Given the description of an element on the screen output the (x, y) to click on. 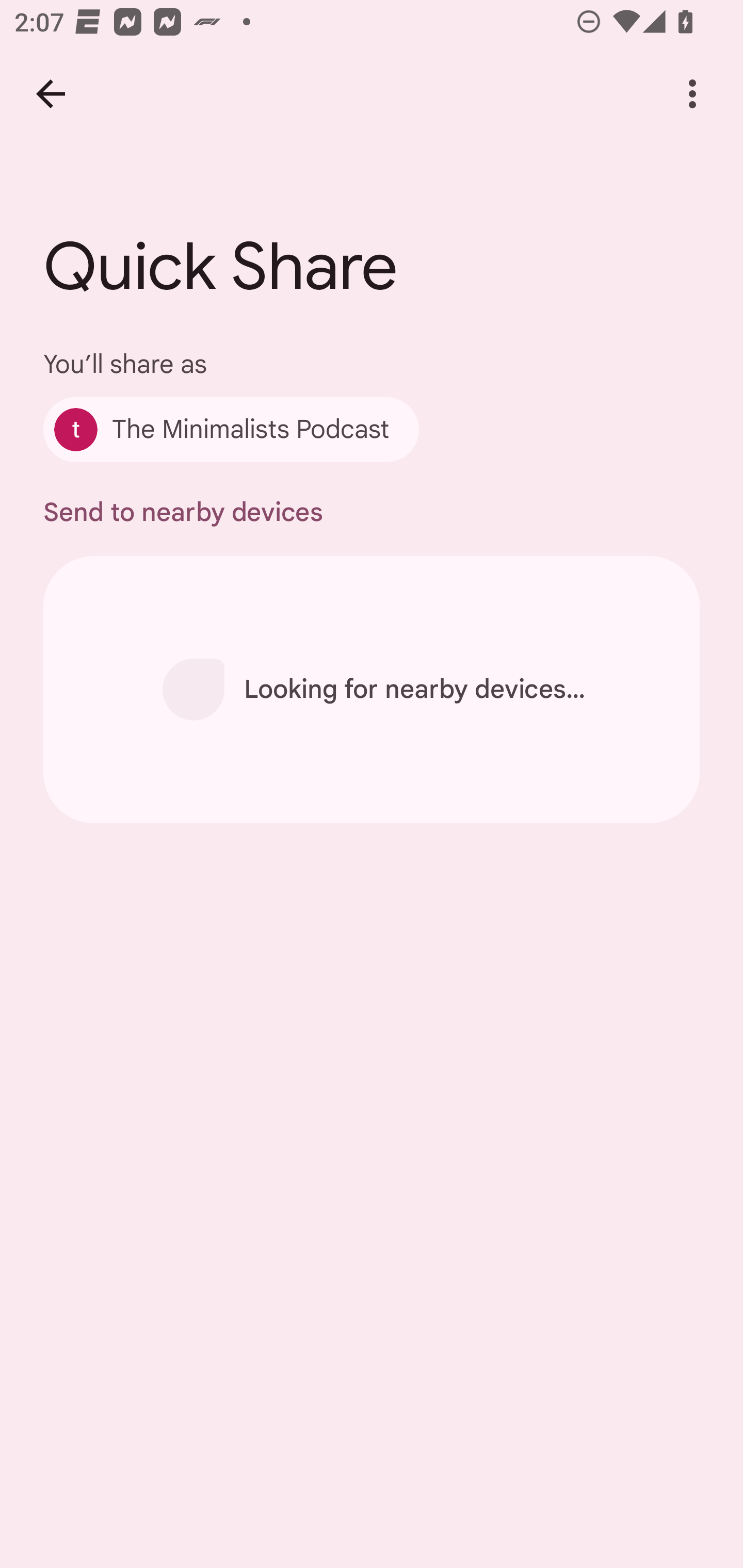
Back (50, 93)
More (692, 93)
The Minimalists Podcast (231, 429)
